Given the description of an element on the screen output the (x, y) to click on. 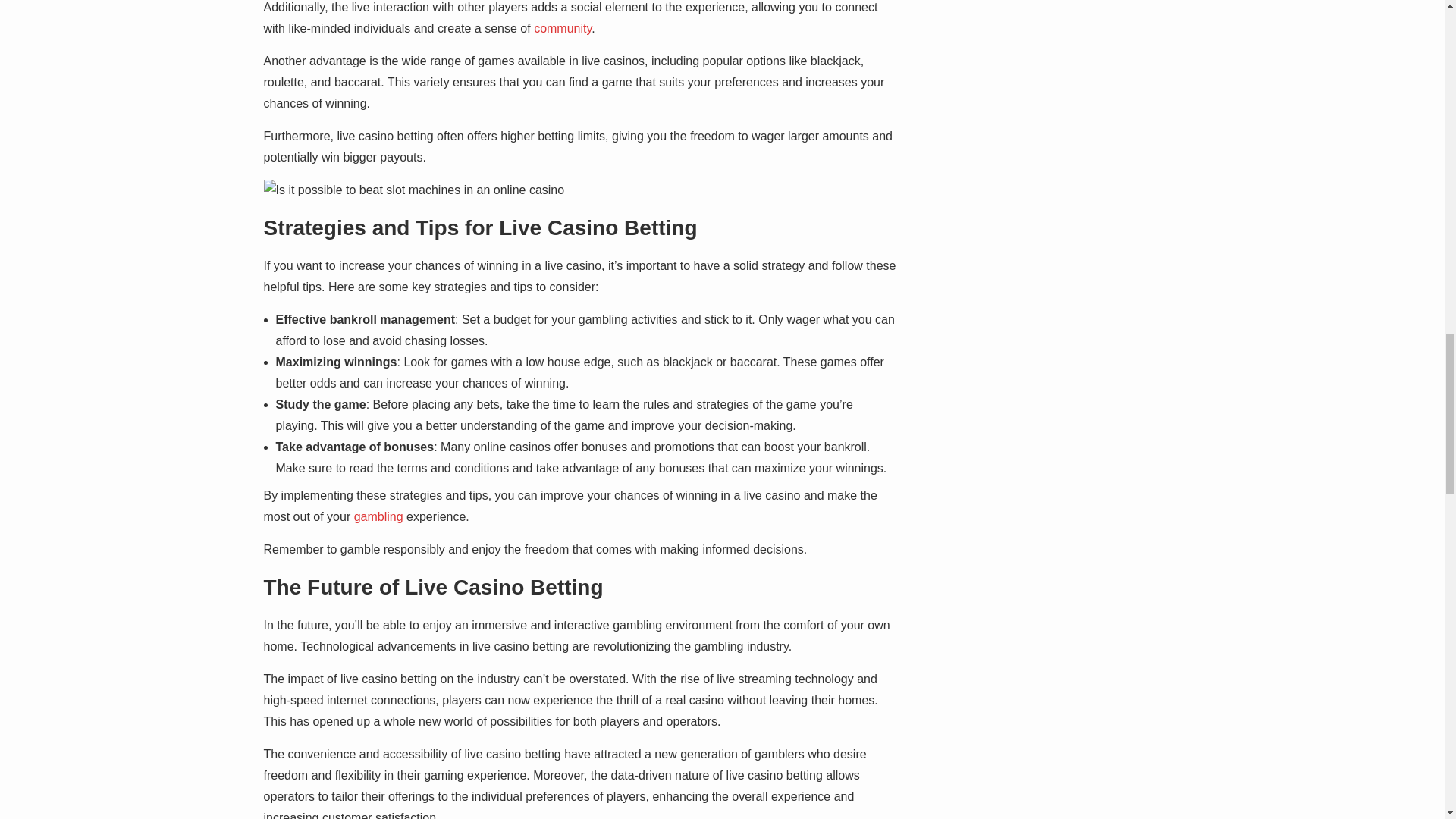
community (562, 28)
gambling (378, 516)
